Given the description of an element on the screen output the (x, y) to click on. 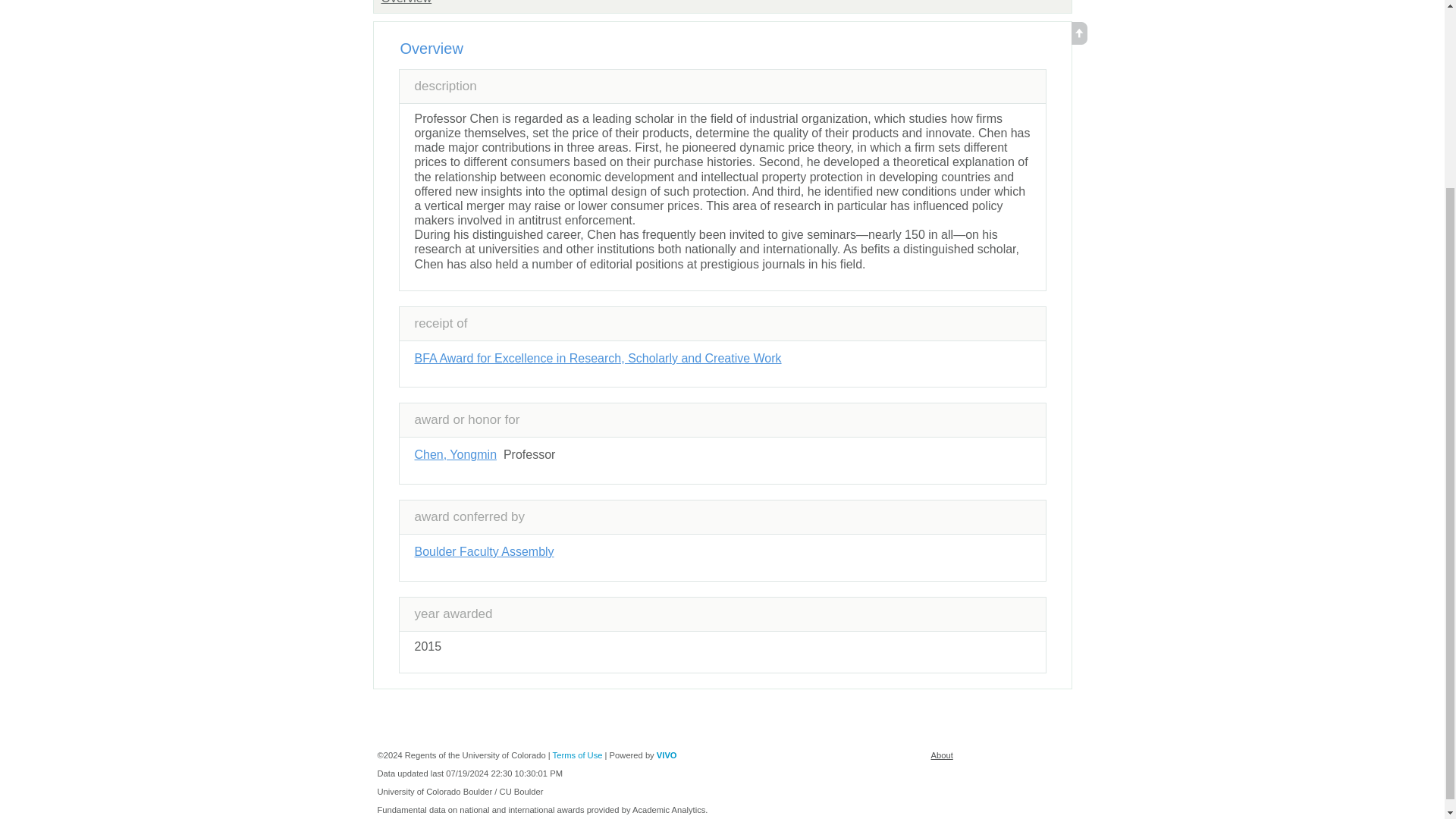
name (454, 454)
Chen, Yongmin (454, 454)
Terms of Use (577, 755)
About (942, 755)
VIVO (666, 755)
name (483, 551)
group name (405, 2)
Boulder Faculty Assembly (483, 551)
name (596, 358)
Overview (405, 2)
scroll to property group menus (1078, 40)
